Given the description of an element on the screen output the (x, y) to click on. 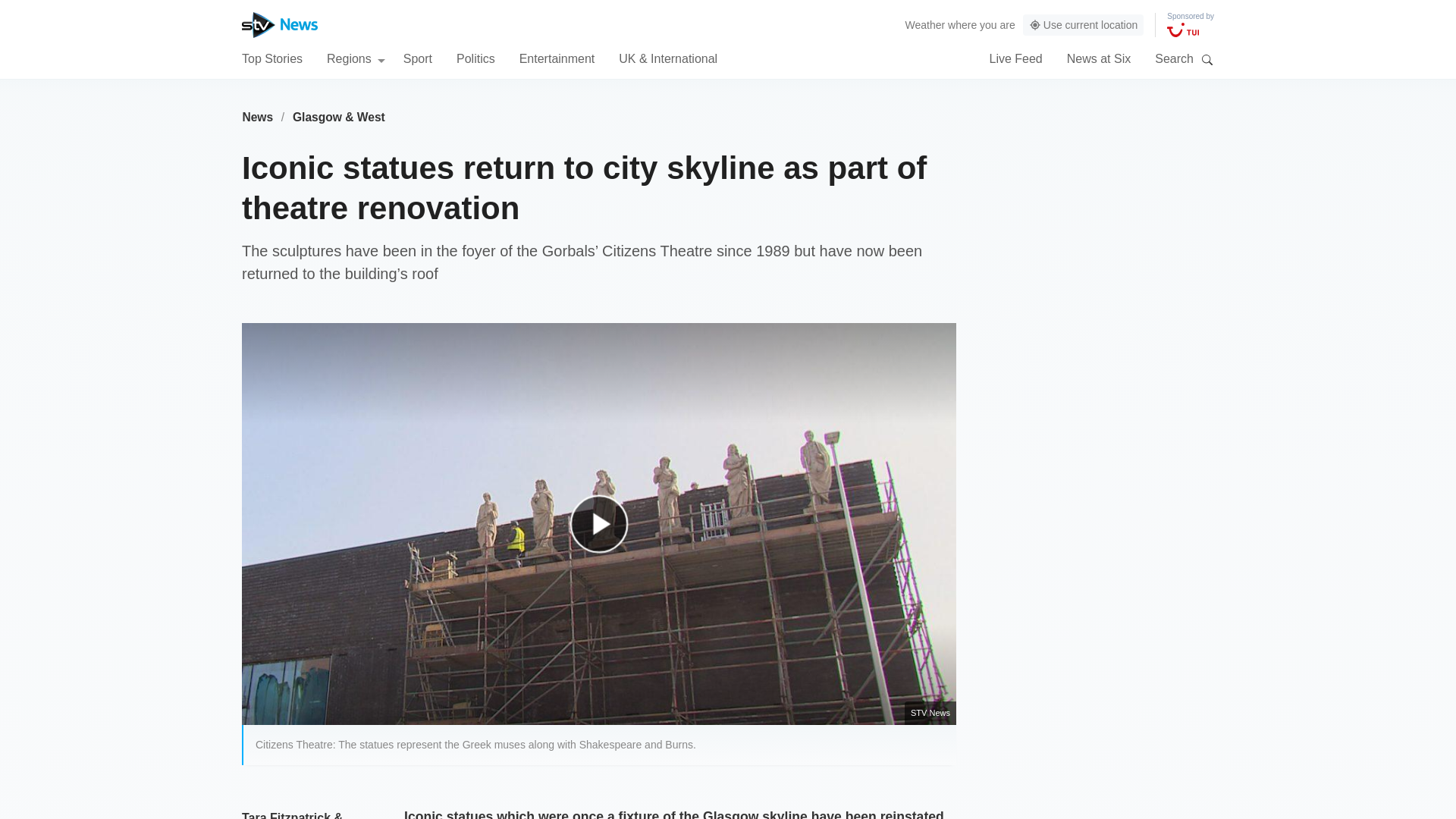
News (257, 116)
Top Stories (271, 57)
Use current location (1083, 25)
Politics (476, 57)
Entertainment (557, 57)
Regions (355, 57)
Play Video (606, 530)
Weather (924, 24)
Live Feed (1015, 57)
Search (1206, 59)
News at Six (1099, 57)
